Given the description of an element on the screen output the (x, y) to click on. 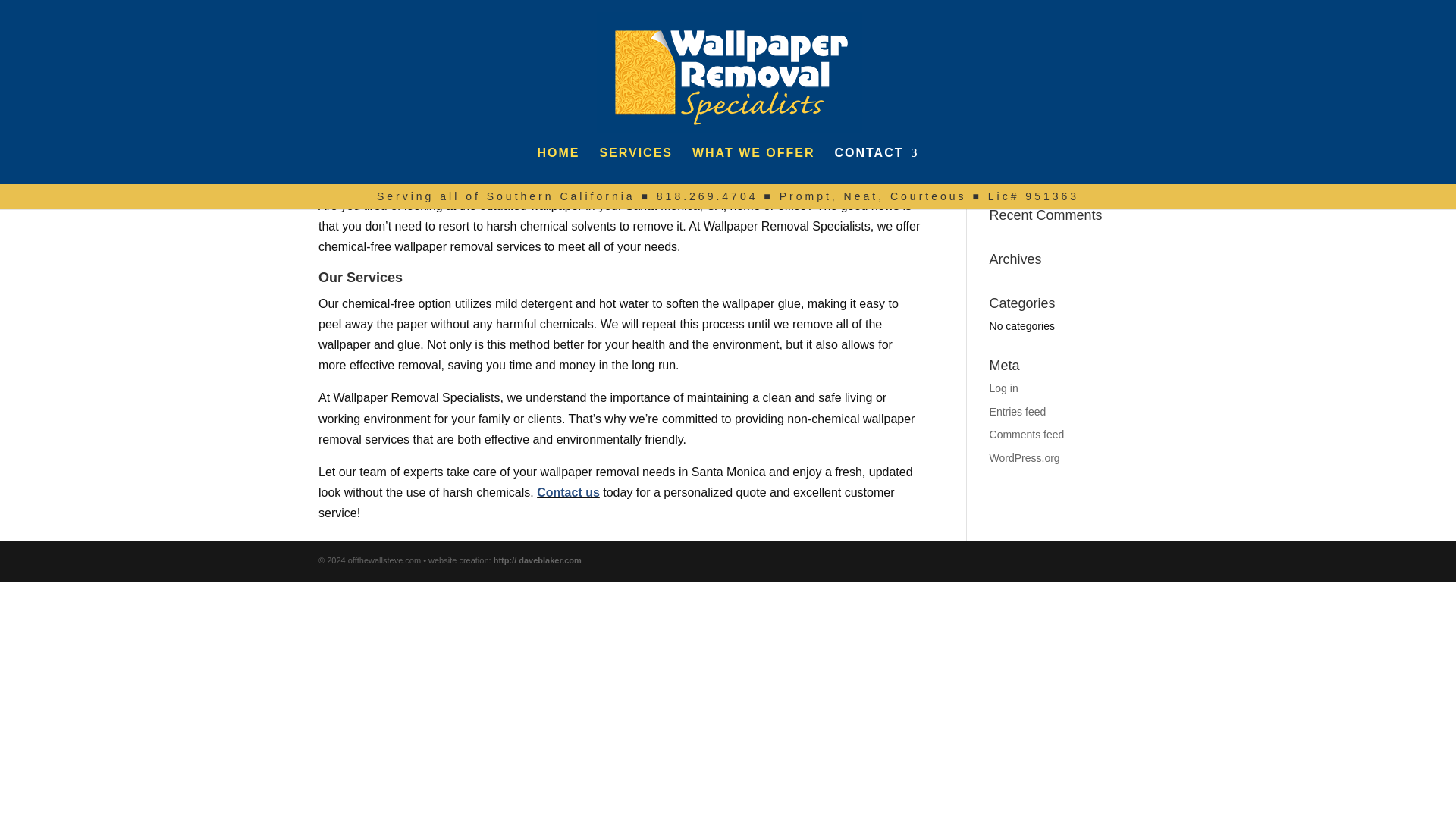
WHAT WE OFFER (754, 166)
SERVICES (635, 166)
Log in (1003, 387)
Contact us (568, 492)
Search (1112, 170)
Comments feed (1027, 434)
WordPress.org (1024, 458)
Entries feed (1018, 411)
HOME (558, 166)
CONTACT (876, 166)
Search (1112, 170)
